Given the description of an element on the screen output the (x, y) to click on. 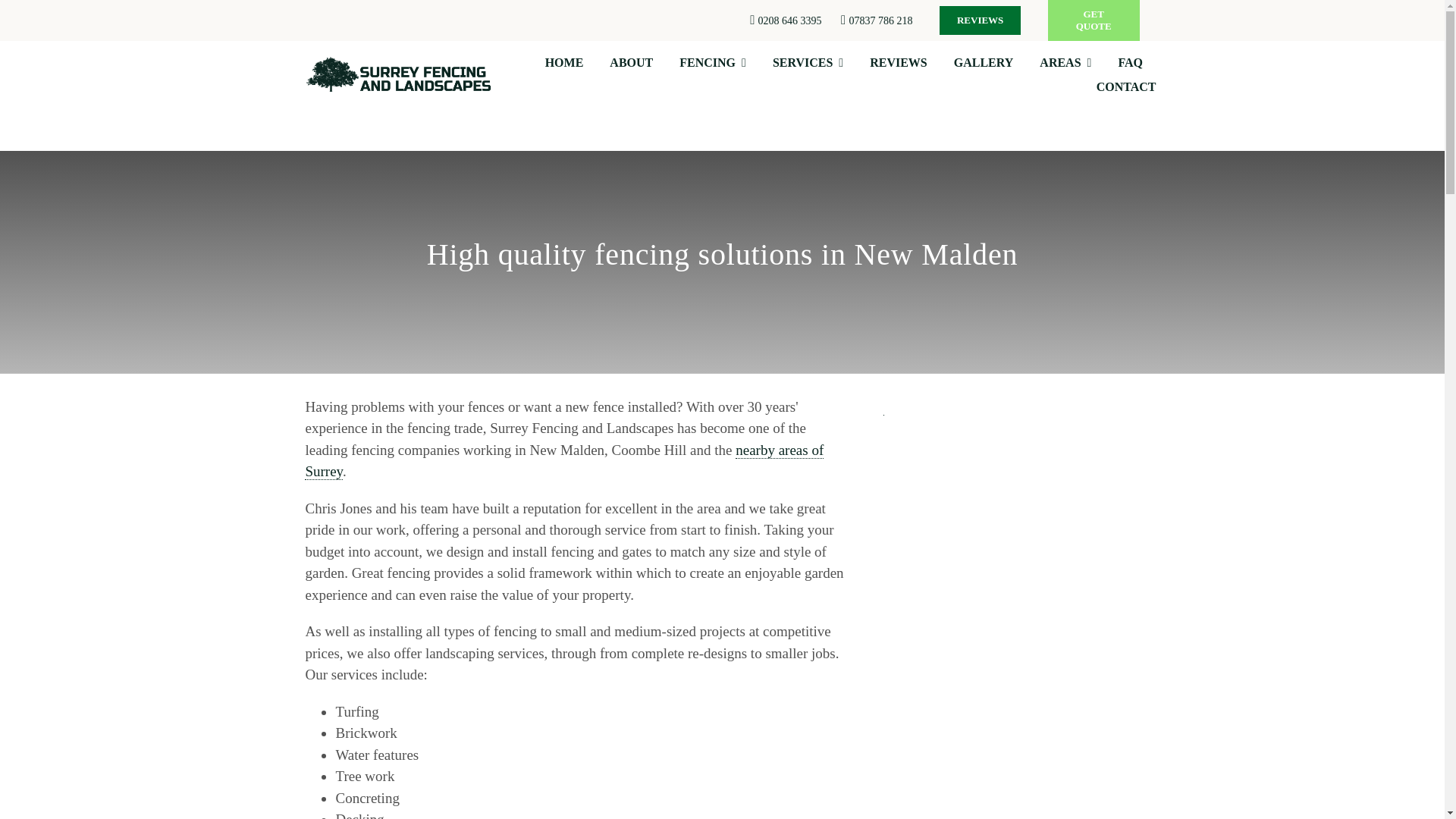
FENCING (712, 62)
GALLERY (983, 62)
AREAS (1064, 62)
0208 646 3395 (790, 20)
07837 786 218 (880, 20)
ABOUT (631, 62)
fencing Surrey (564, 461)
REVIEWS (898, 62)
GET QUOTE (1094, 20)
HOME (563, 62)
SERVICES (808, 62)
REVIEWS (979, 20)
